Given the description of an element on the screen output the (x, y) to click on. 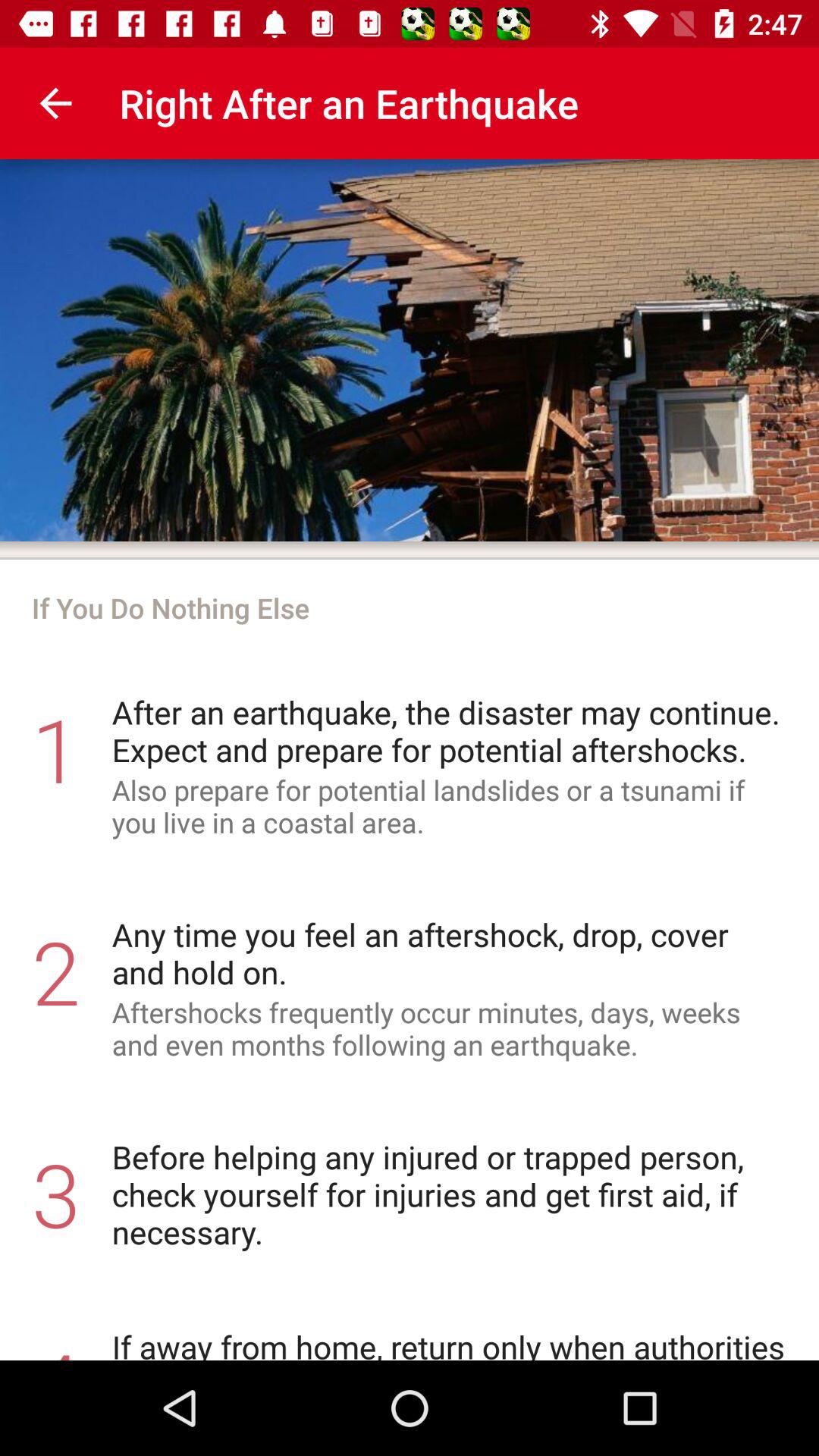
press the app to the left of the right after an app (55, 103)
